Given the description of an element on the screen output the (x, y) to click on. 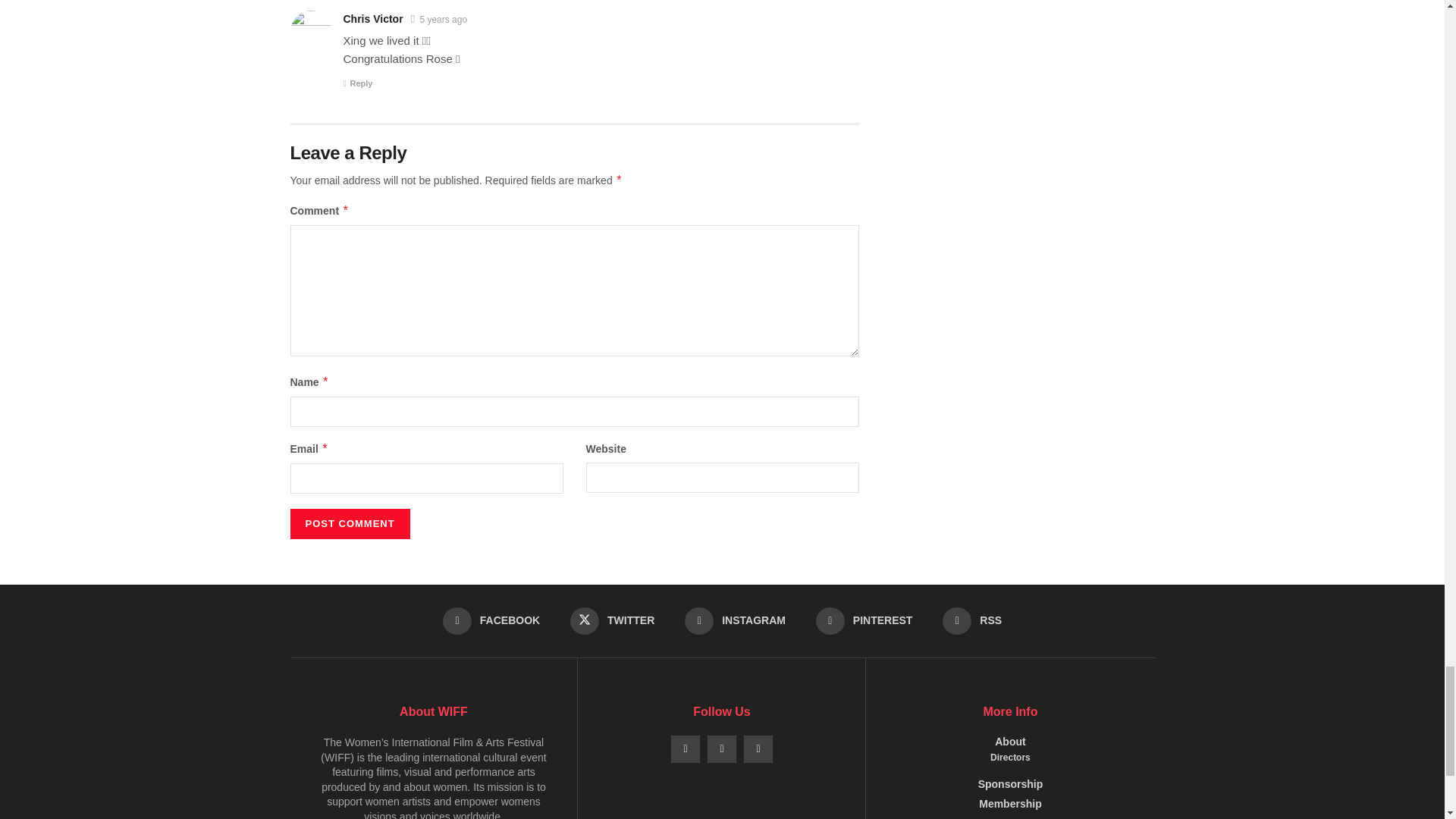
Post Comment (349, 523)
